Given the description of an element on the screen output the (x, y) to click on. 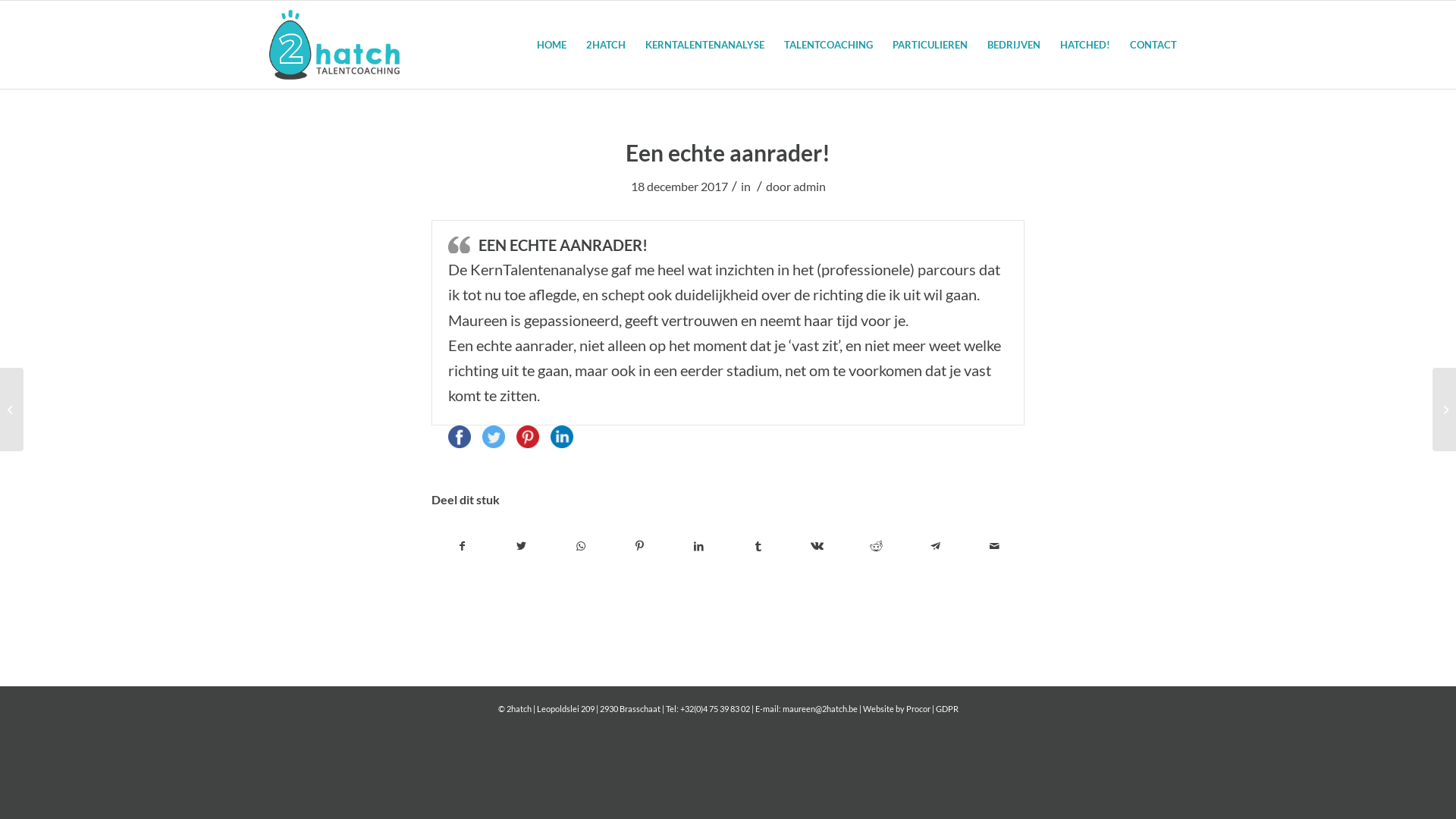
HOME Element type: text (551, 44)
Share on Pinterest Element type: hover (527, 442)
Share on Facebook Element type: hover (459, 442)
KERNTALENTENANALYSE Element type: text (704, 44)
BEDRIJVEN Element type: text (1013, 44)
HATCHED! Element type: text (1085, 44)
2HATCH Element type: text (605, 44)
Procor Element type: text (917, 708)
CONTACT Element type: text (1153, 44)
PARTICULIEREN Element type: text (929, 44)
TALENTCOACHING Element type: text (828, 44)
Share on Twitter Element type: hover (493, 442)
Share on LinkedIn Element type: hover (561, 442)
admin Element type: text (809, 185)
GDPR Element type: text (946, 708)
